Given the description of an element on the screen output the (x, y) to click on. 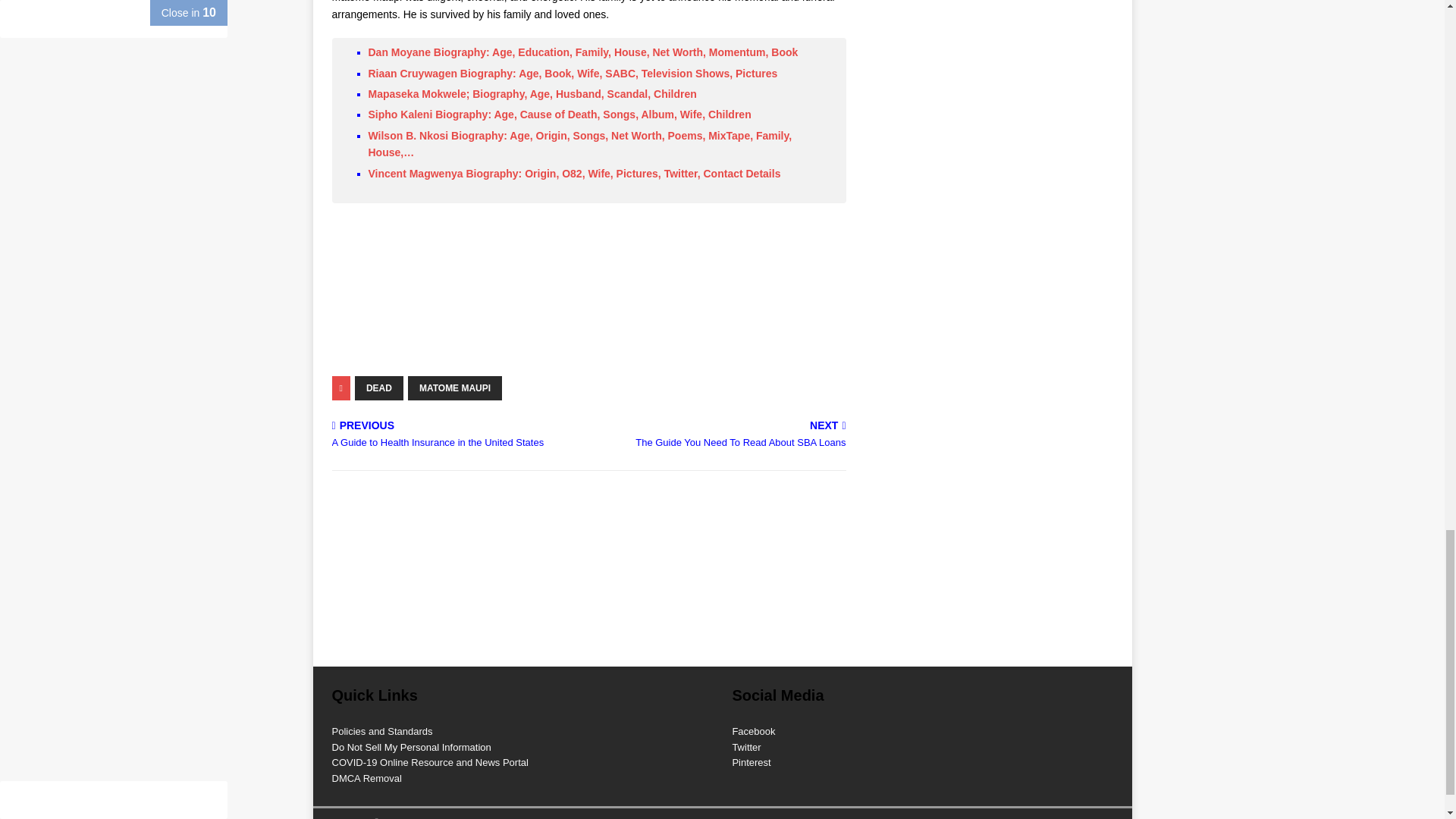
Mapaseka Mokwele; Biography, Age, Husband, Scandal, Children (532, 93)
MATOME MAUPI (720, 435)
DEAD (454, 387)
